Given the description of an element on the screen output the (x, y) to click on. 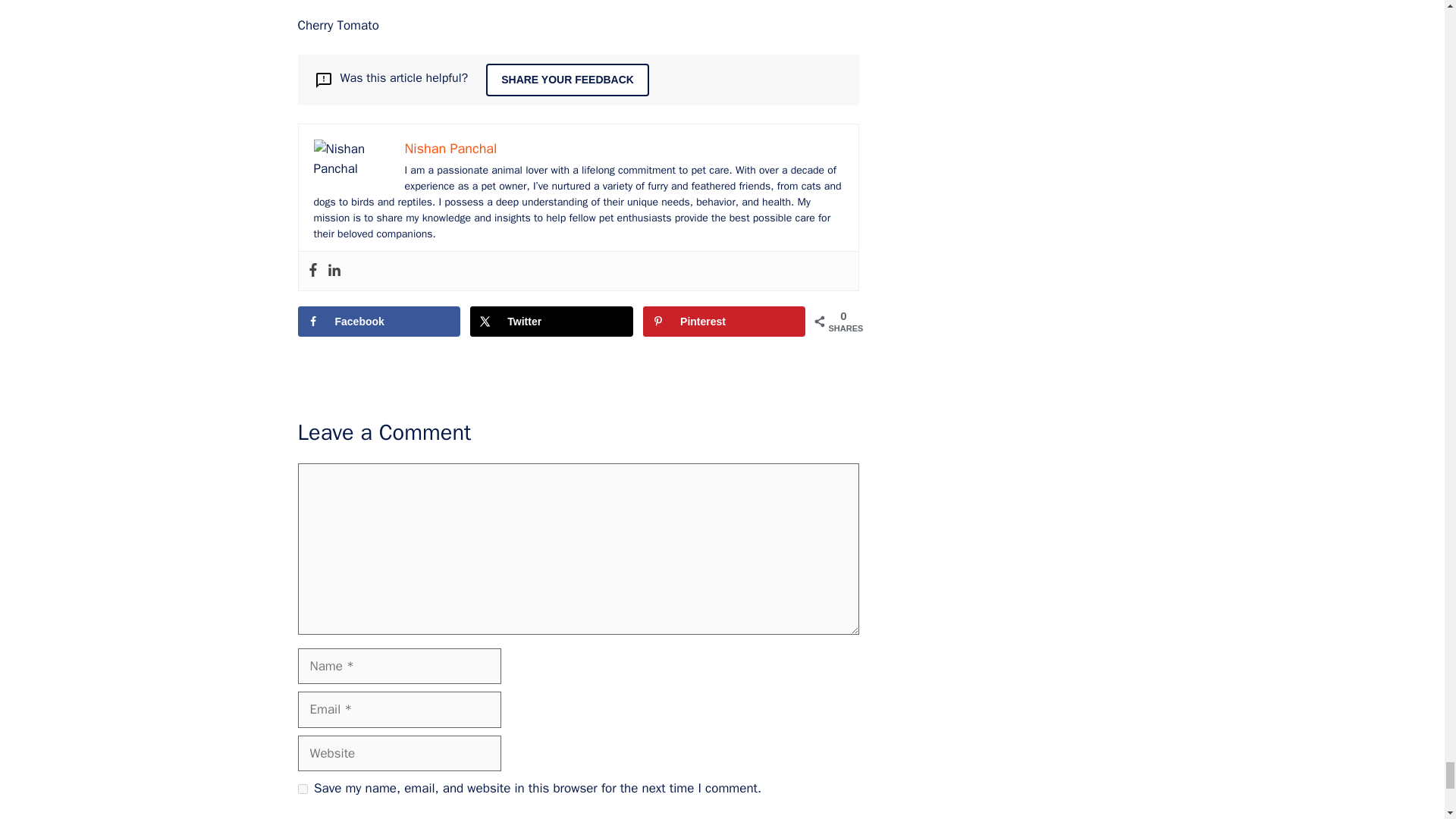
Pinterest (724, 321)
Facebook (378, 321)
yes (302, 788)
Twitter (550, 321)
Nishan Panchal (450, 148)
Facebook (312, 270)
Linkedin (333, 270)
Share on Facebook (378, 321)
SHARE YOUR FEEDBACK (567, 79)
